Given the description of an element on the screen output the (x, y) to click on. 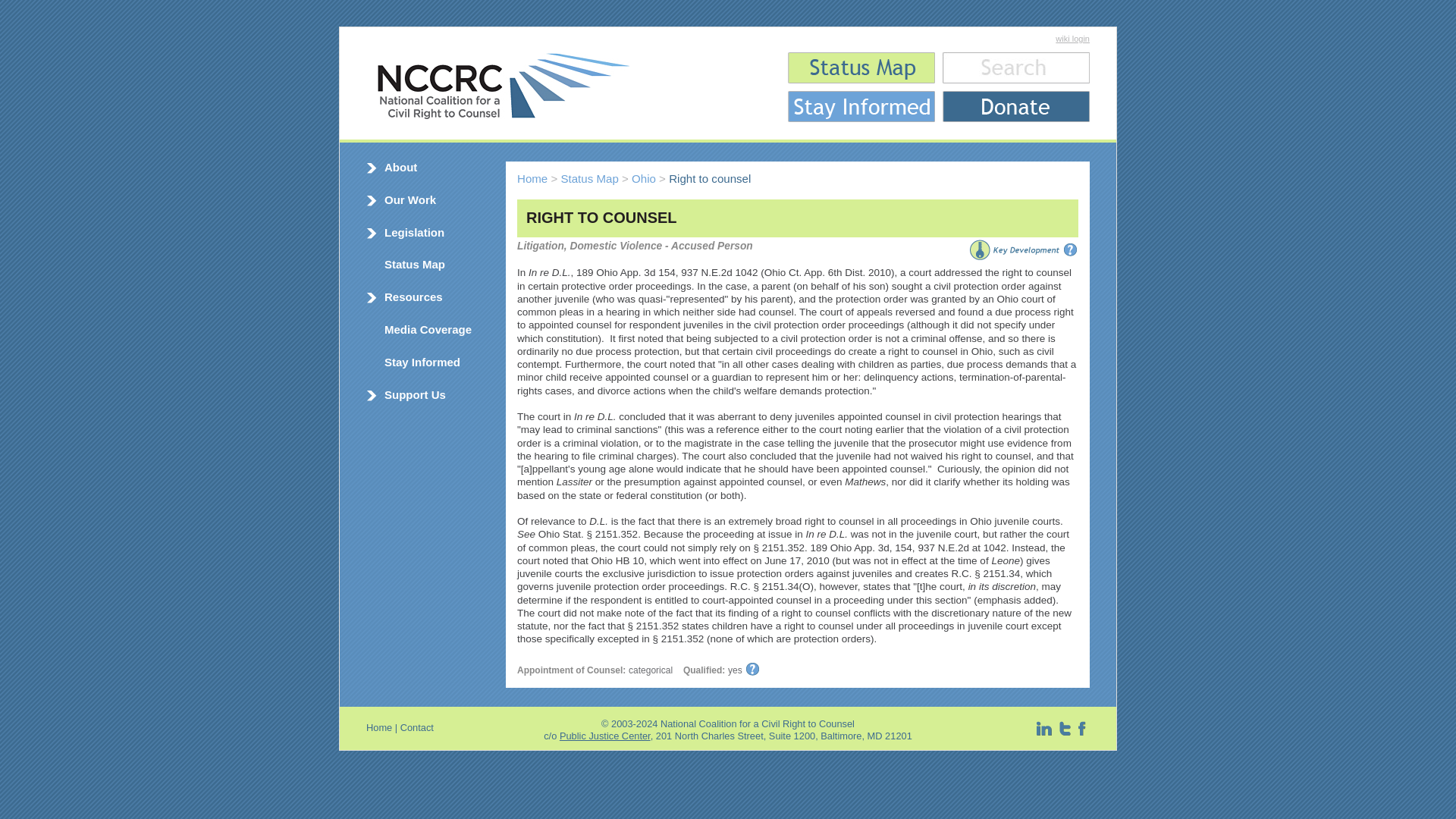
Media Coverage (427, 328)
Status Map (414, 264)
Resources (413, 296)
Our Work (409, 199)
Legislation (414, 232)
wiki login (1072, 38)
About (400, 166)
